Given the description of an element on the screen output the (x, y) to click on. 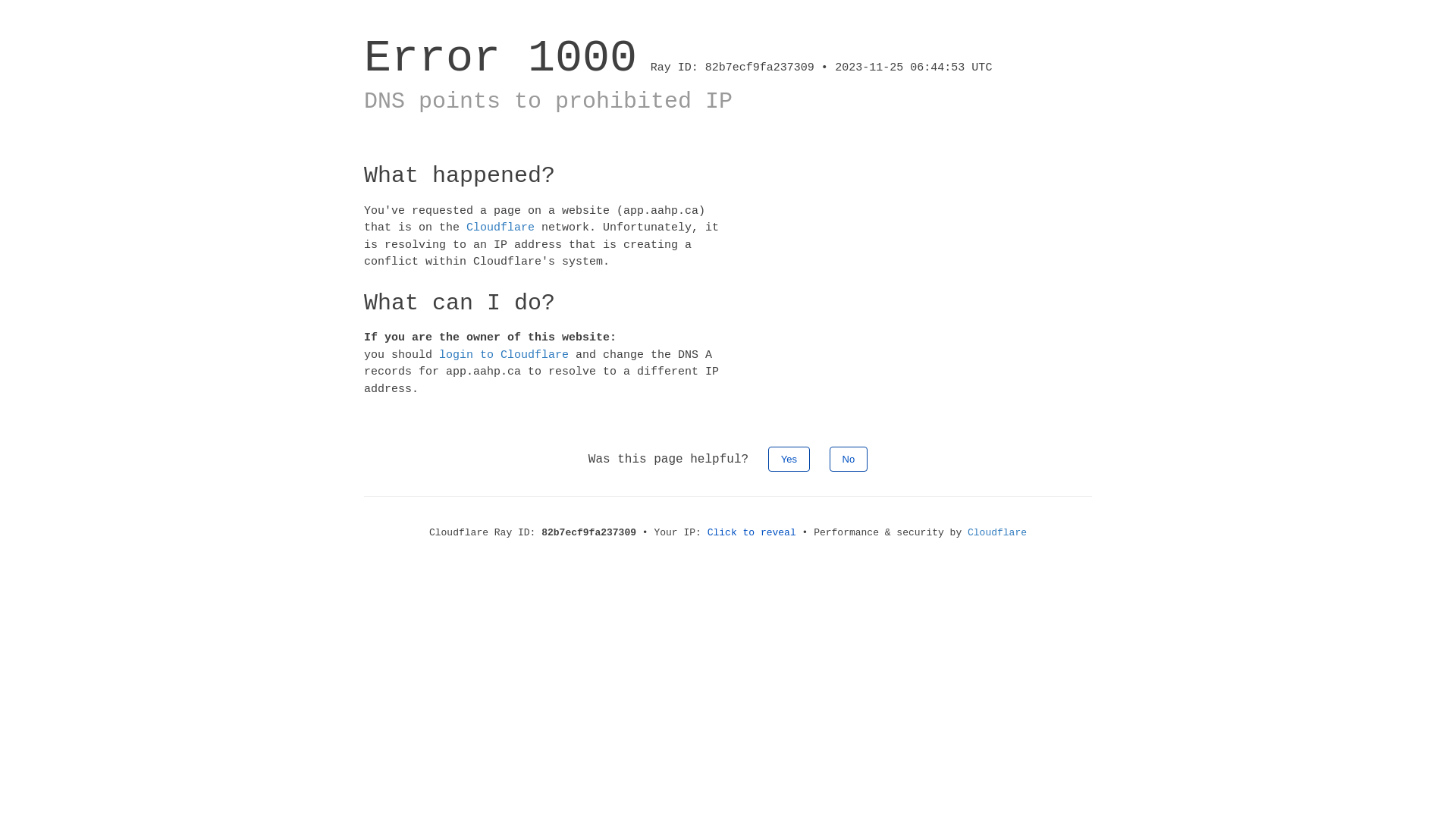
login to Cloudflare Element type: text (503, 354)
No Element type: text (848, 458)
Cloudflare Element type: text (996, 532)
Yes Element type: text (788, 458)
Click to reveal Element type: text (751, 532)
Cloudflare Element type: text (500, 227)
